Given the description of an element on the screen output the (x, y) to click on. 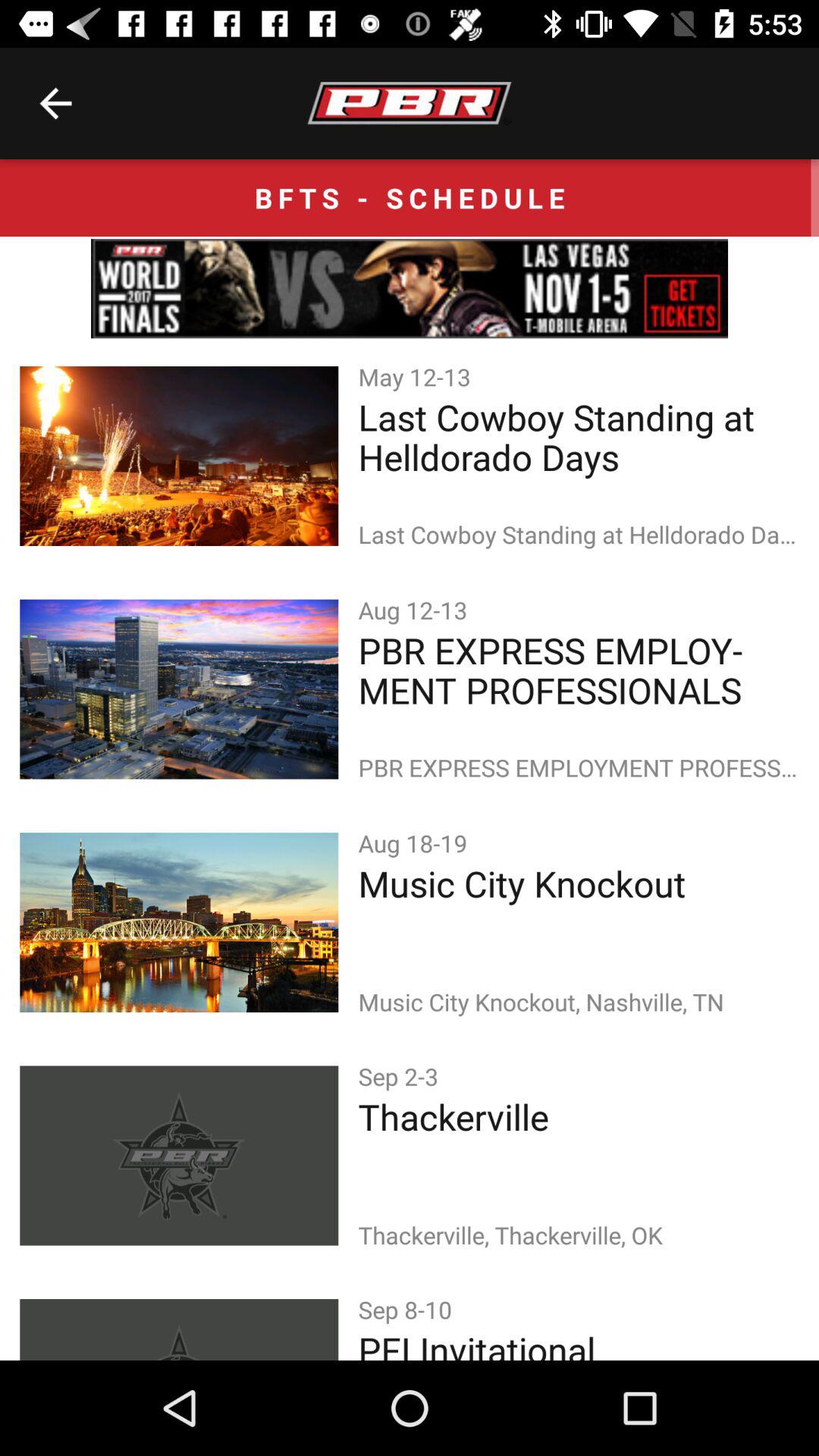
select the aug 18-19 item (415, 842)
